Given the description of an element on the screen output the (x, y) to click on. 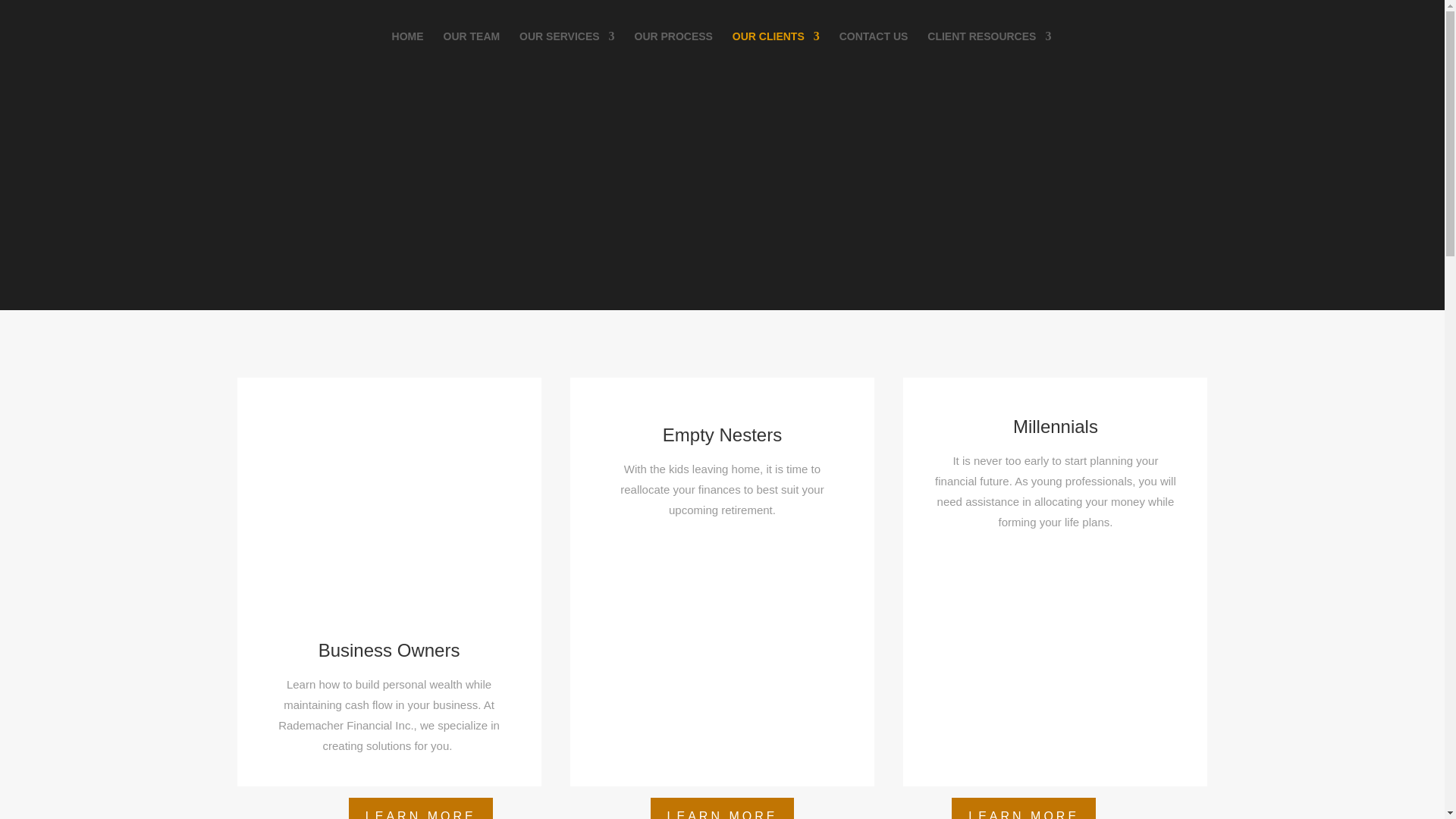
LEARN MORE (1024, 808)
OUR TEAM (470, 51)
OUR PROCESS (672, 51)
LEARN MORE (722, 808)
OUR CLIENTS (775, 51)
OUR SERVICES (566, 51)
CONTACT US (874, 51)
CLIENT RESOURCES (989, 51)
LEARN MORE (421, 808)
